Given the description of an element on the screen output the (x, y) to click on. 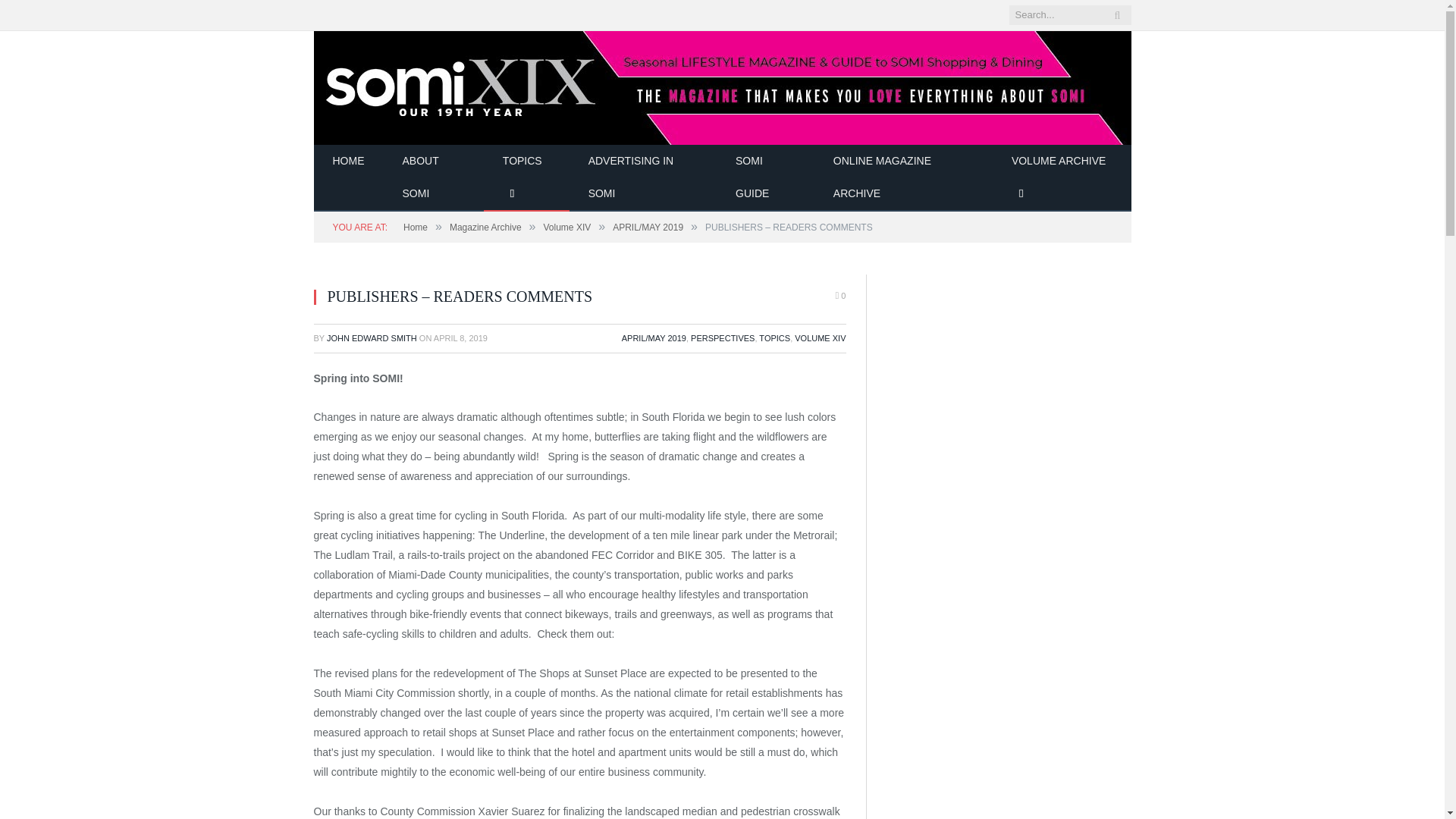
TOPICS (526, 177)
HOME (349, 161)
SomiMag.com (722, 85)
ADVERTISING IN SOMI (642, 177)
ONLINE MAGAZINE ARCHIVE (902, 177)
Posts by John Edward Smith (371, 338)
VOLUME ARCHIVE (1061, 177)
SOMI GUIDE (764, 177)
ABOUT SOMI (433, 177)
